Given the description of an element on the screen output the (x, y) to click on. 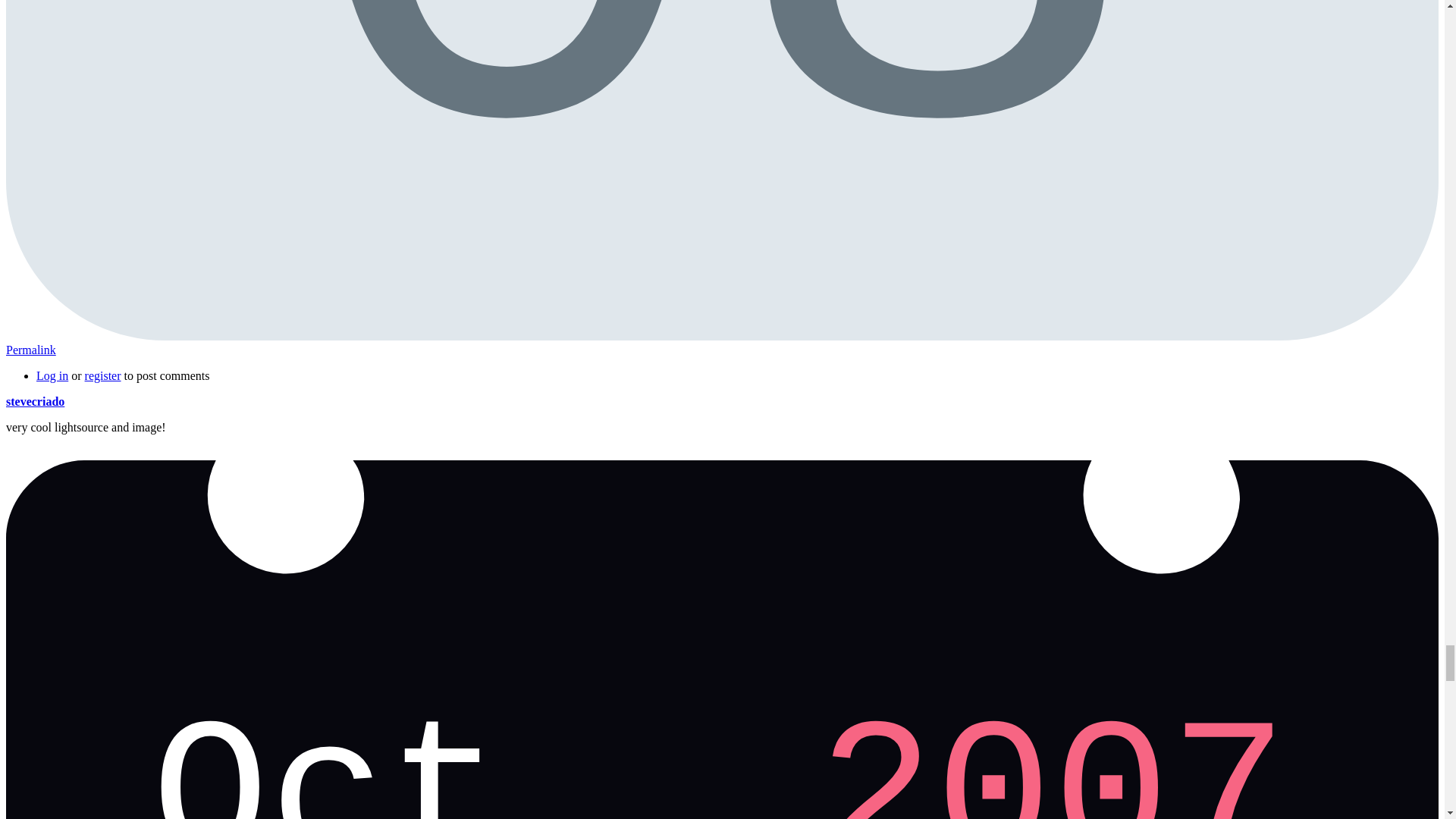
View user profile. (34, 400)
